Given the description of an element on the screen output the (x, y) to click on. 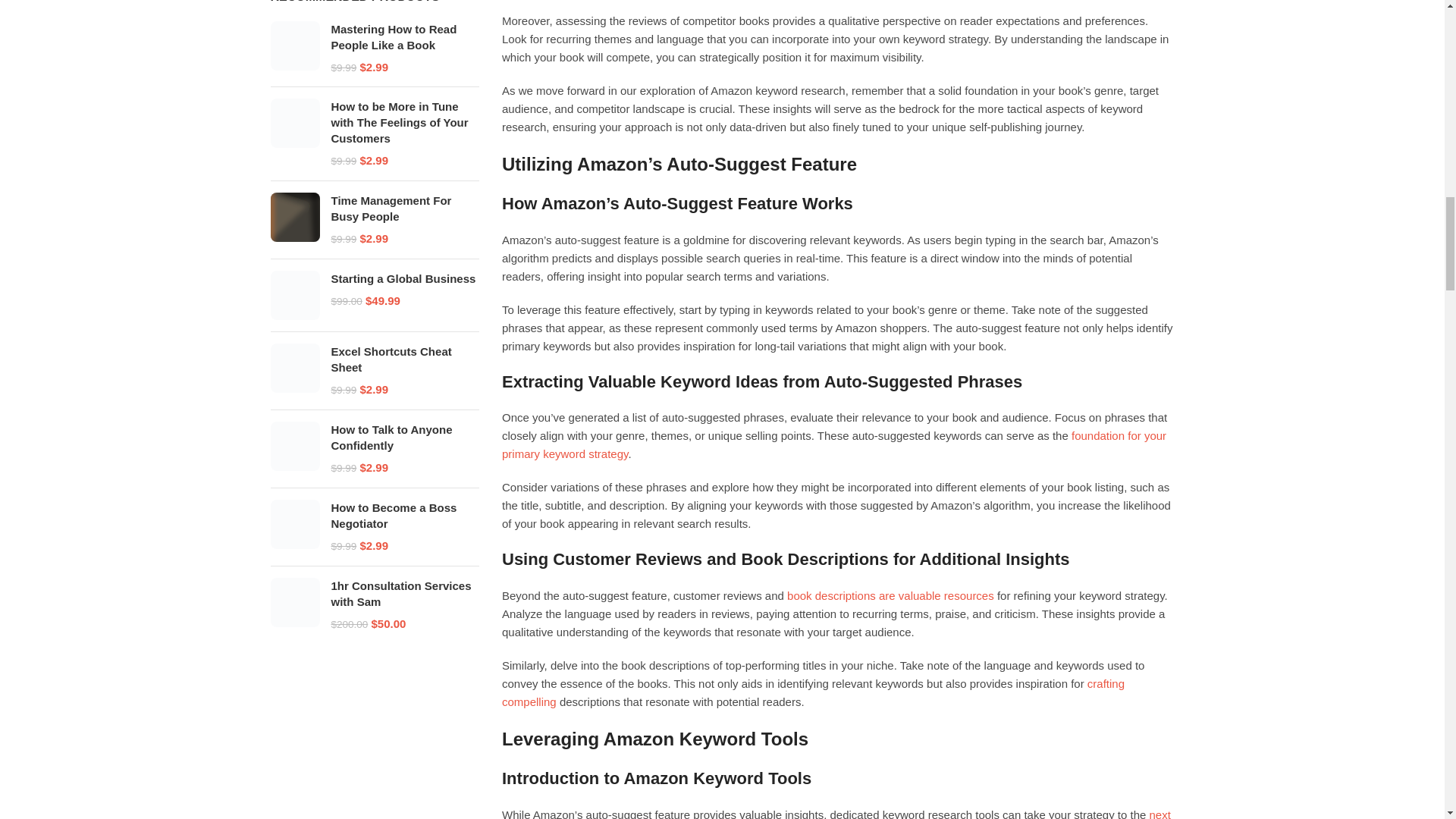
foundation for your primary keyword strategy (834, 444)
book descriptions are valuable resources (890, 594)
